Given the description of an element on the screen output the (x, y) to click on. 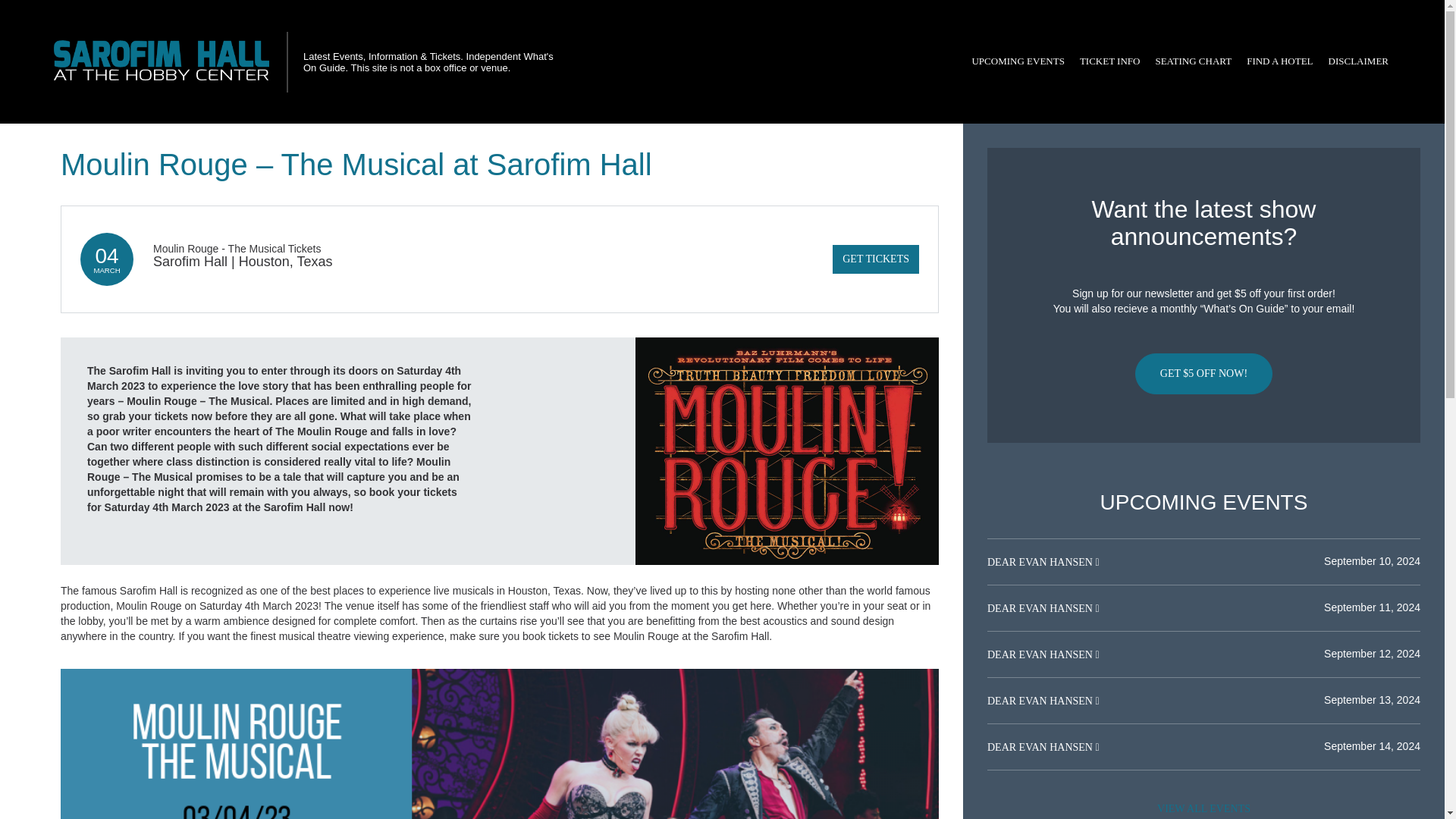
DEAR EVAN HANSEN (1040, 608)
VIEW ALL EVENTS (1203, 806)
DISCLAIMER (1358, 61)
GET TICKETS (875, 258)
TICKET INFO (1109, 61)
SEATING CHART (1193, 61)
Moulin Rouge - The Musical Tickets (236, 248)
UPCOMING EVENTS (1017, 61)
